Given the description of an element on the screen output the (x, y) to click on. 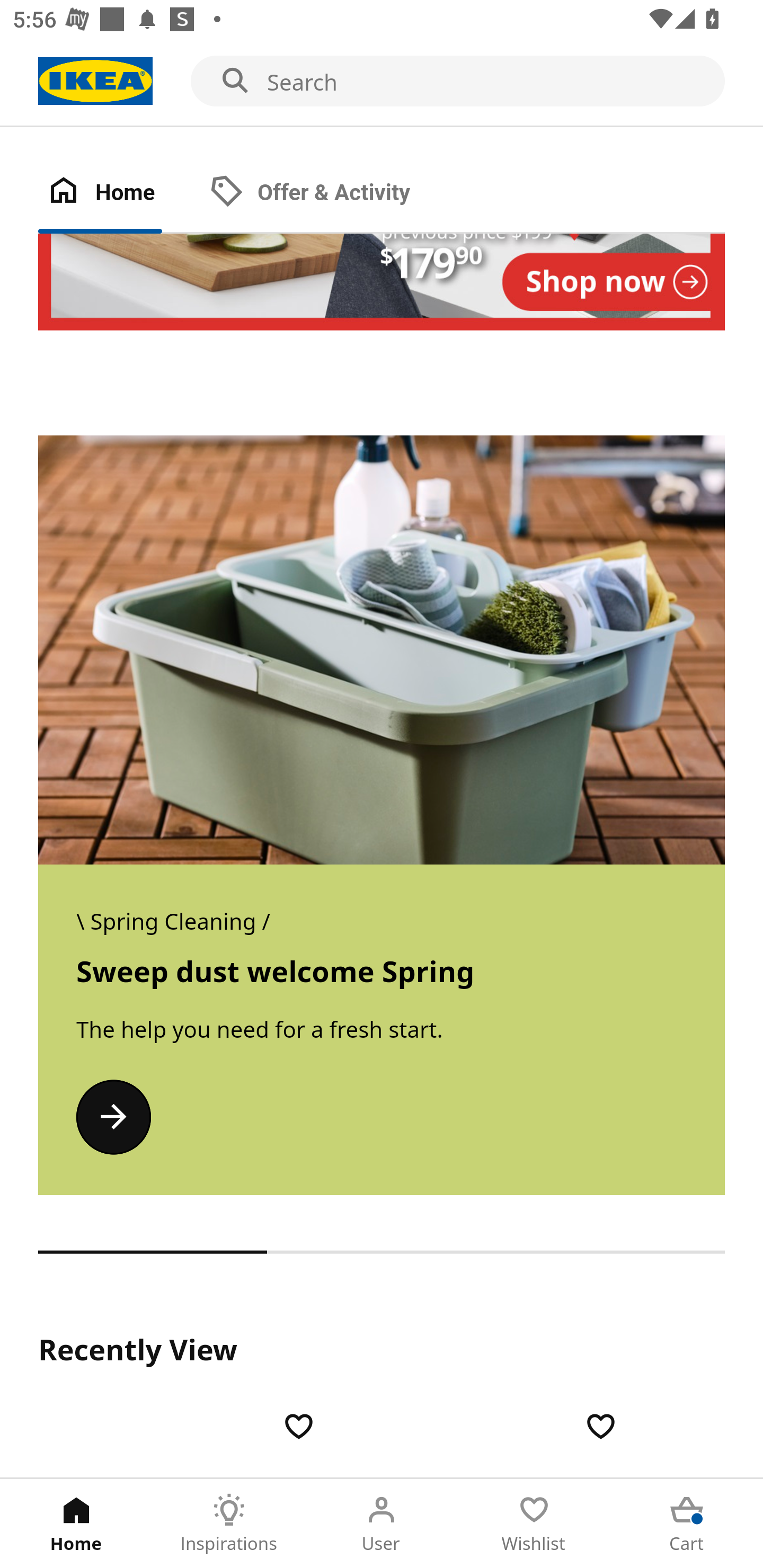
Search (381, 81)
Home
Tab 1 of 2 (118, 192)
Offer & Activity
Tab 2 of 2 (327, 192)
Home
Tab 1 of 5 (76, 1522)
Inspirations
Tab 2 of 5 (228, 1522)
User
Tab 3 of 5 (381, 1522)
Wishlist
Tab 4 of 5 (533, 1522)
Cart
Tab 5 of 5 (686, 1522)
